Given the description of an element on the screen output the (x, y) to click on. 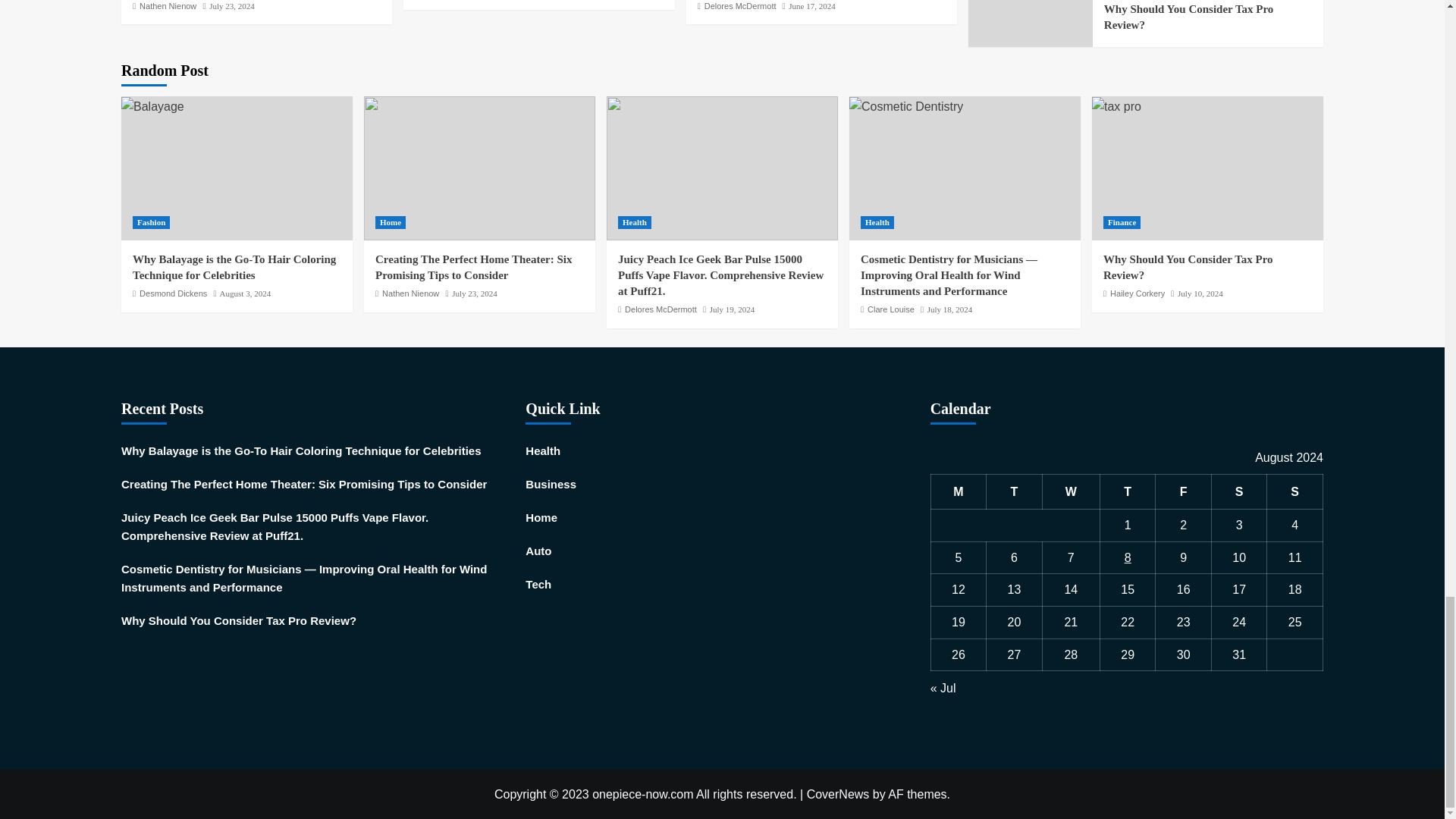
Monday (958, 491)
Friday (1183, 491)
Nathen Nienow (167, 5)
Saturday (1238, 491)
June 17, 2024 (811, 5)
Delores McDermott (740, 5)
Sunday (1294, 491)
Thursday (1127, 491)
Tuesday (1014, 491)
Wednesday (1070, 491)
